Given the description of an element on the screen output the (x, y) to click on. 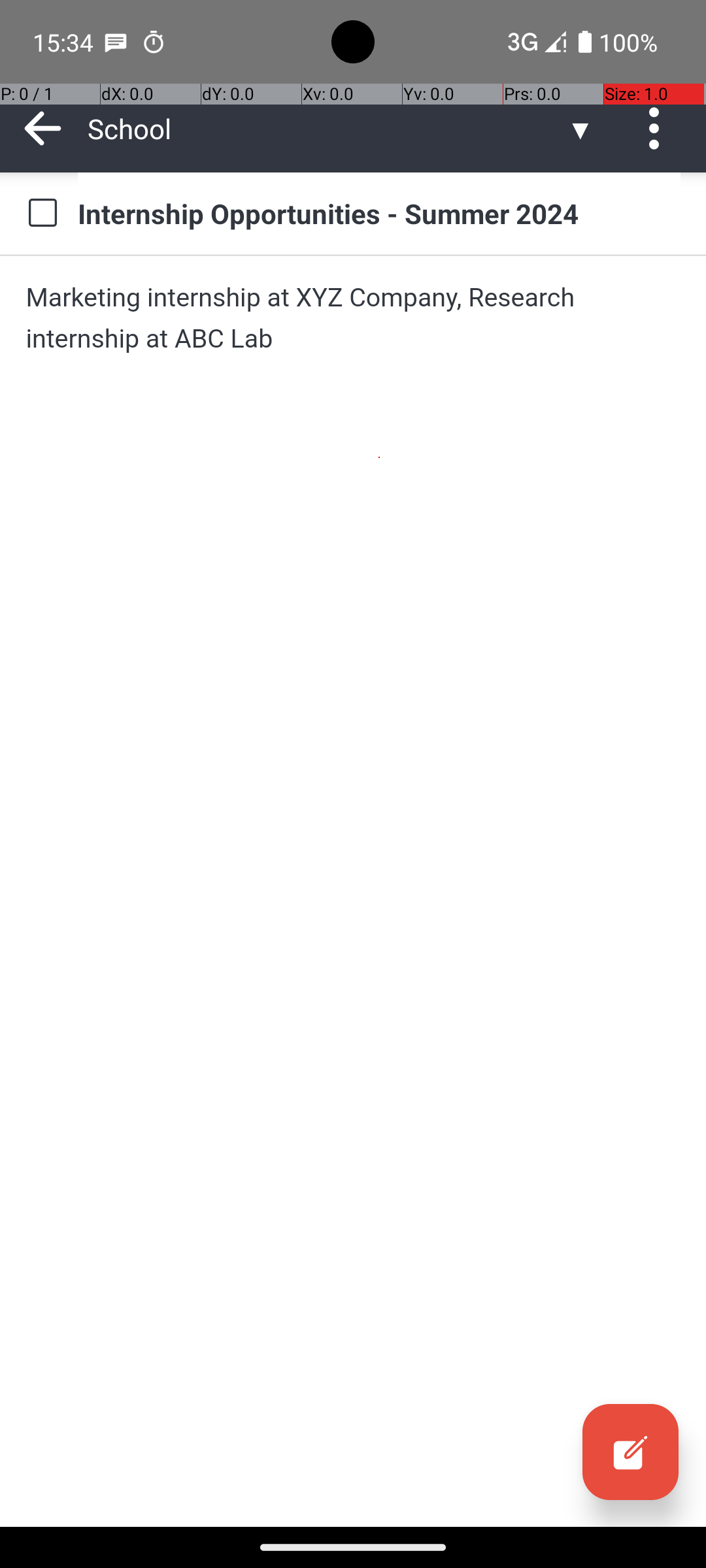
Marketing internship at XYZ Company, Research internship at ABC Lab Element type: android.widget.TextView (352, 317)
